Given the description of an element on the screen output the (x, y) to click on. 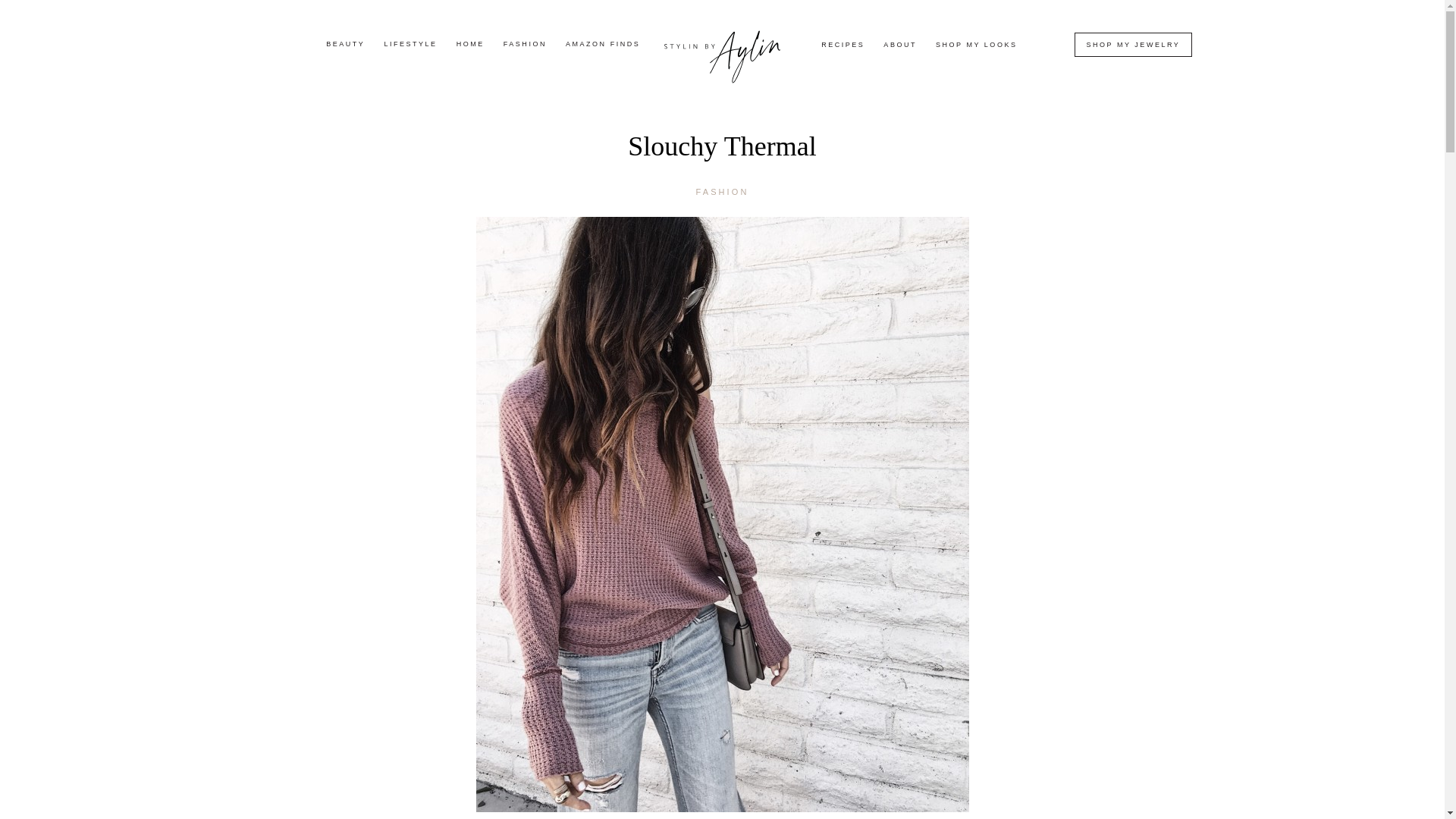
AMAZON FINDS (603, 43)
RECIPES (842, 44)
ABOUT (900, 44)
SHOP MY JEWELRY (1133, 44)
HOME (470, 43)
LIFESTYLE (410, 43)
BEAUTY (345, 43)
SHOP MY LOOKS (976, 44)
FASHION (525, 43)
